Given the description of an element on the screen output the (x, y) to click on. 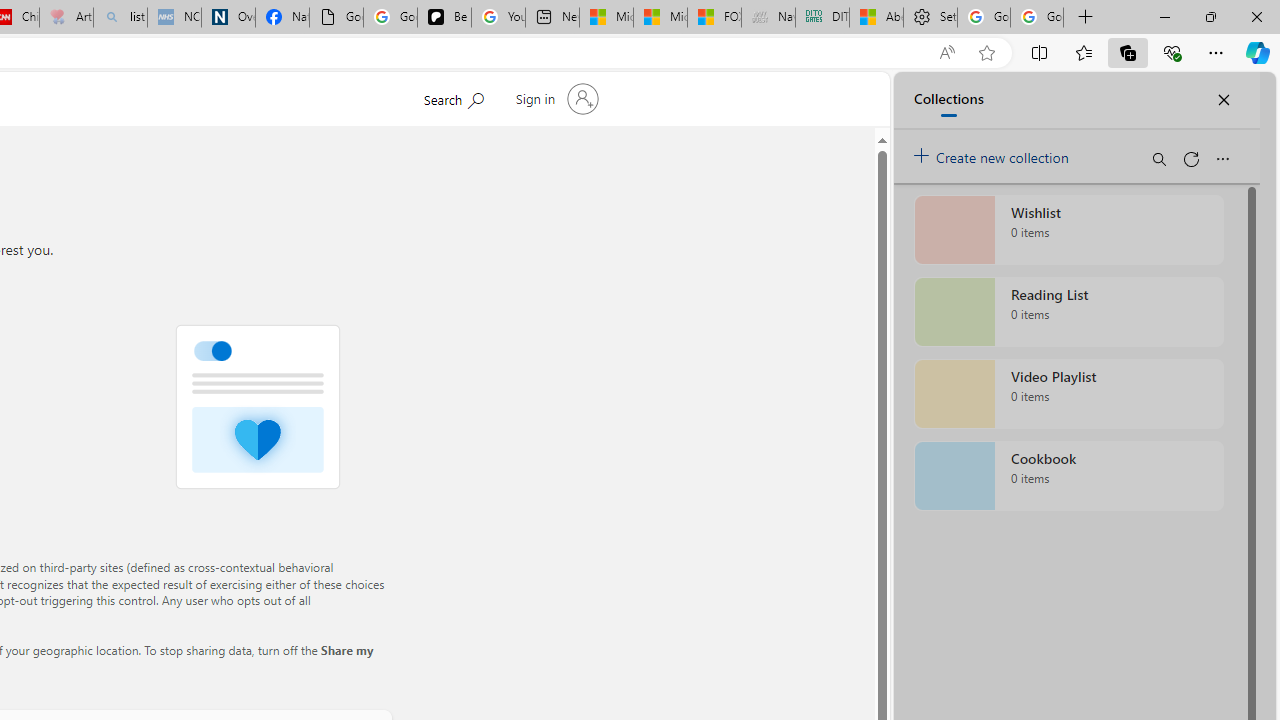
Search Microsoft.com (452, 97)
Add this page to favorites (Ctrl+D) (986, 53)
Microsoft Start (660, 17)
FOX News - MSN (714, 17)
DITOGAMES AG Imprint (822, 17)
Arthritis: Ask Health Professionals - Sleeping (66, 17)
Google Analytics Opt-out Browser Add-on Download Page (336, 17)
Read aloud this page (Ctrl+Shift+U) (946, 53)
New Tab (1085, 17)
NCL Adult Asthma Inhaler Choice Guideline - Sleeping (174, 17)
Collections (1128, 52)
Navy Quest (768, 17)
Split screen (1039, 52)
